Given the description of an element on the screen output the (x, y) to click on. 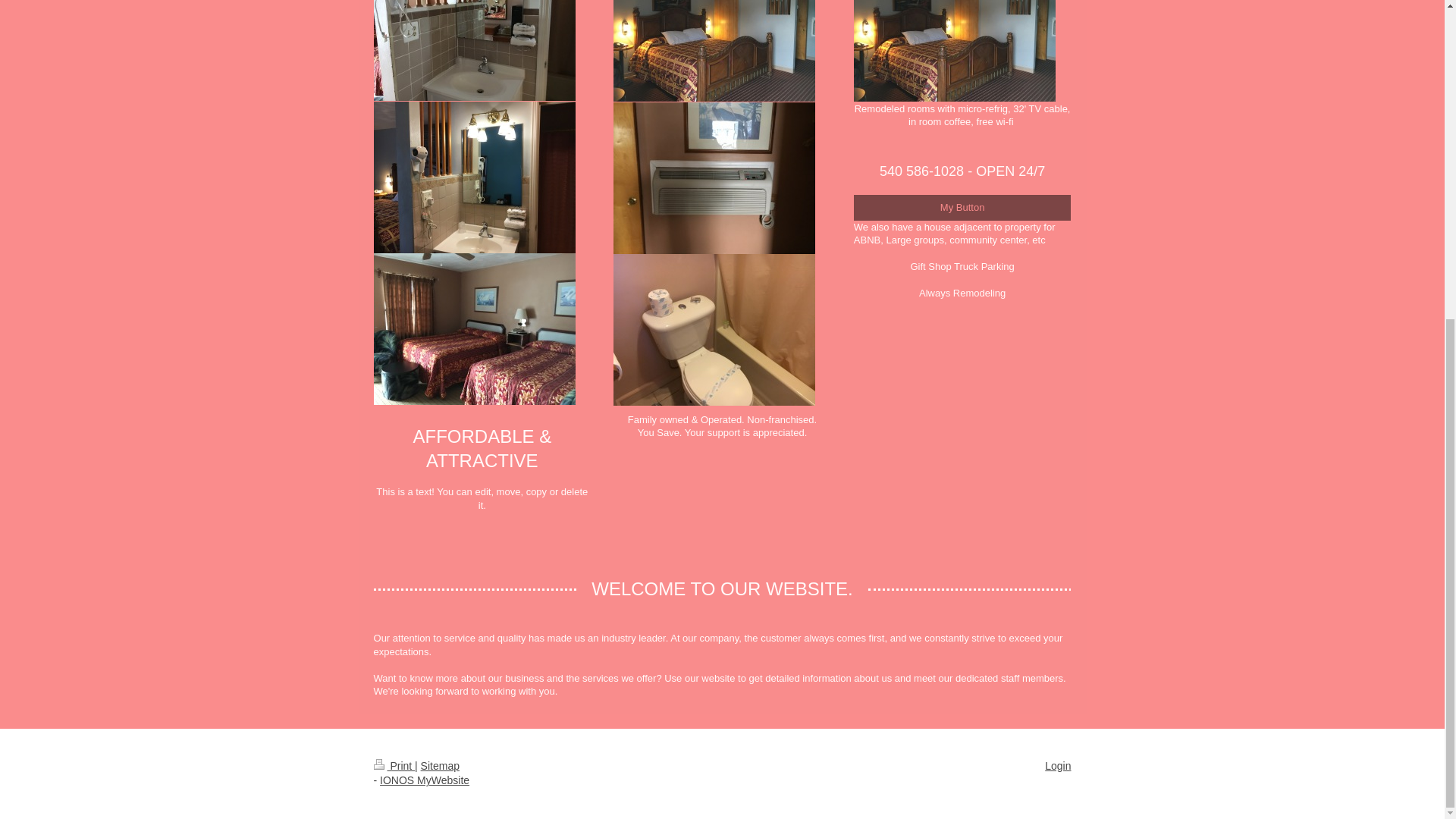
Login (1057, 766)
Print (393, 766)
IONOS MyWebsite (424, 779)
Sitemap (440, 766)
My Button (962, 207)
